Given the description of an element on the screen output the (x, y) to click on. 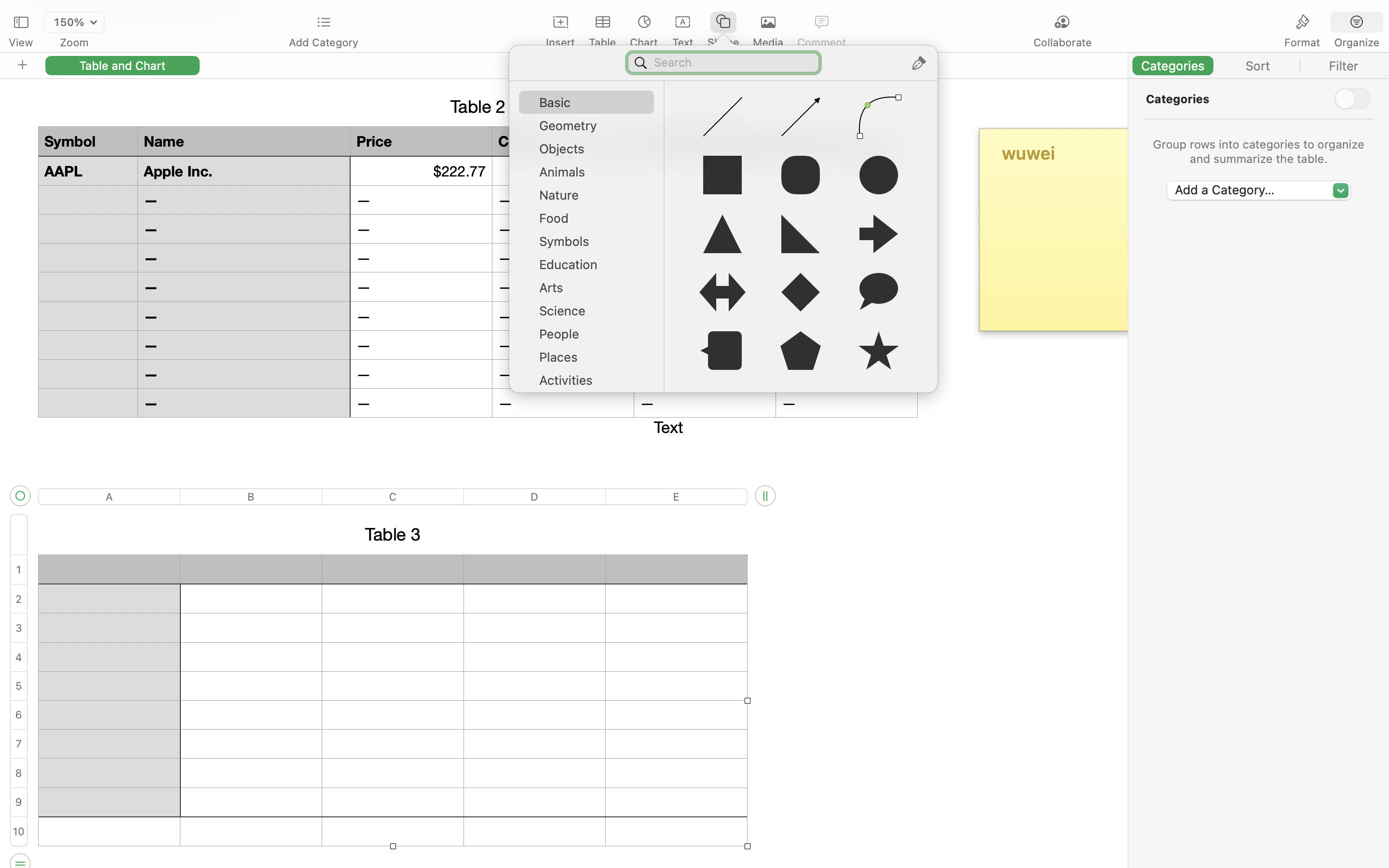
Insert Element type: AXStaticText (560, 42)
Education Element type: AXStaticText (591, 267)
Geometry Element type: AXStaticText (591, 128)
View Element type: AXStaticText (20, 42)
